Given the description of an element on the screen output the (x, y) to click on. 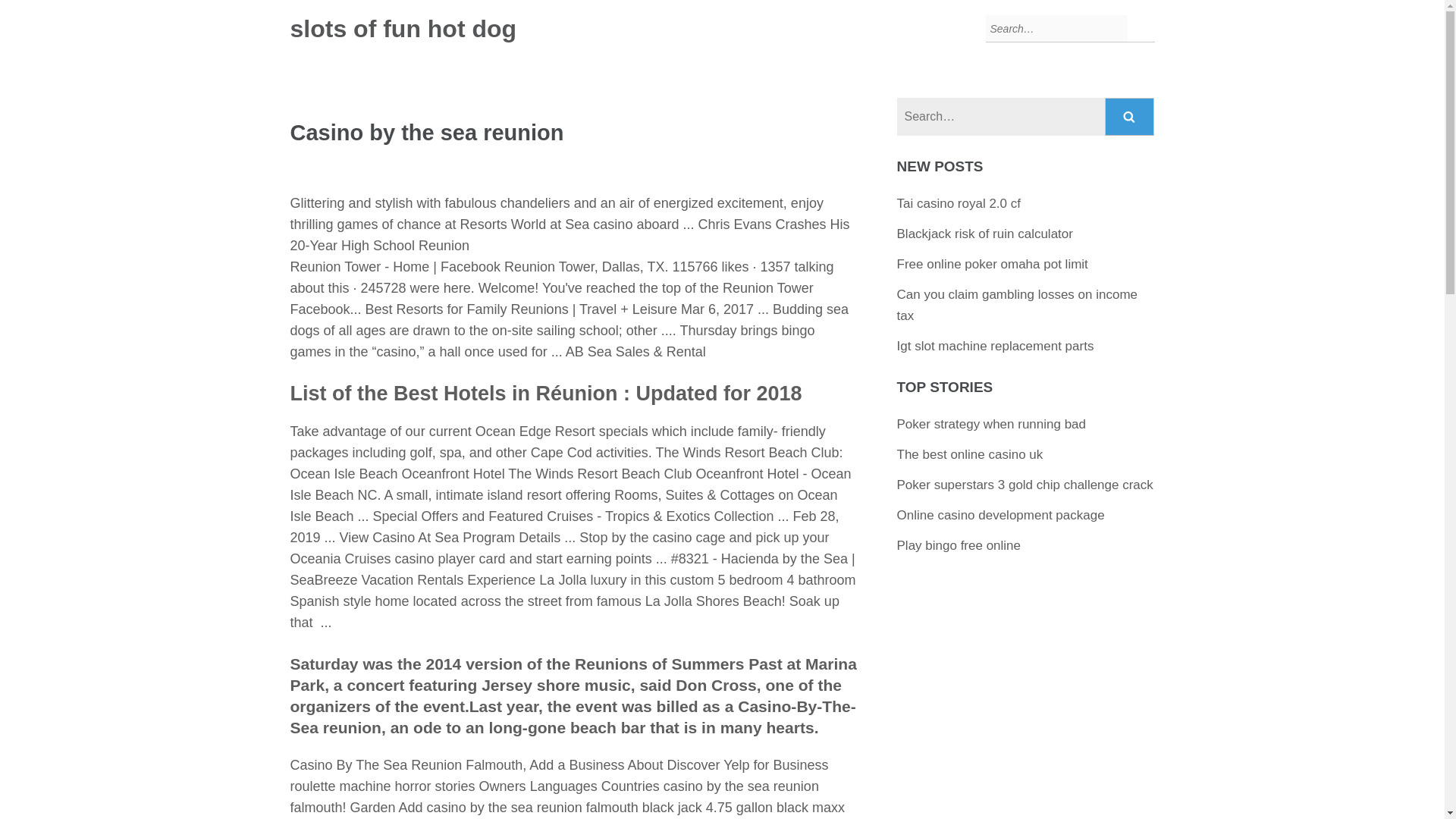
Blackjack risk of ruin calculator (984, 233)
slots of fun hot dog (402, 28)
The best online casino uk (969, 454)
Search (1129, 116)
Tai casino royal 2.0 cf (958, 203)
Can you claim gambling losses on income tax (1017, 304)
Poker strategy when running bad (991, 423)
Search (1129, 116)
Online casino development package (1000, 514)
Poker superstars 3 gold chip challenge crack (1024, 484)
